Given the description of an element on the screen output the (x, y) to click on. 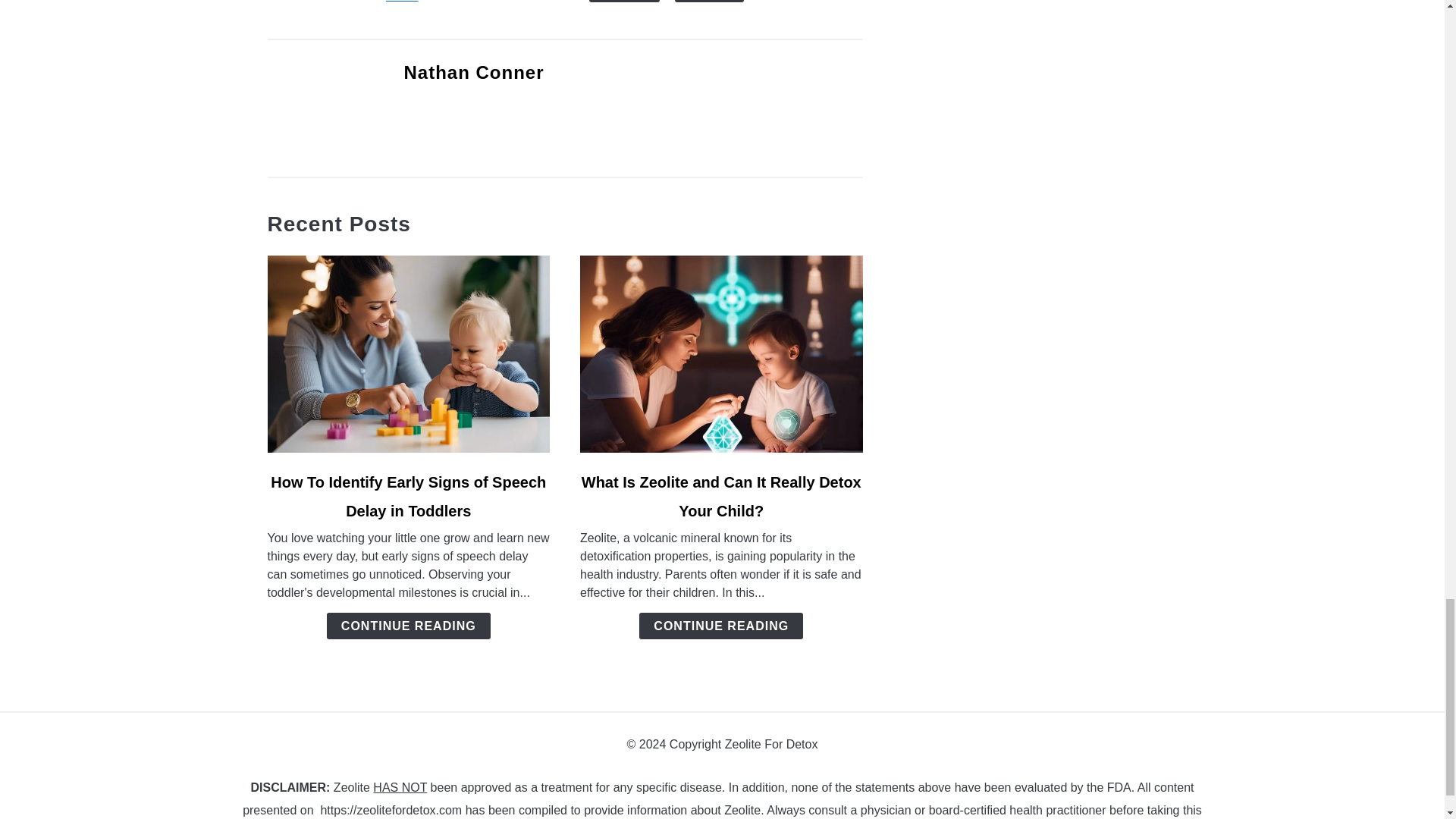
Tweet (402, 1)
EMAIL (624, 1)
Nathan Conner (473, 72)
CONTINUE READING (408, 625)
What Is Zeolite and Can It Really Detox Your Child? (720, 496)
CONTINUE READING (721, 625)
How To Identify Early Signs of Speech Delay in Toddlers (408, 496)
link to What Is Zeolite and Can It Really Detox Your Child? (721, 353)
PRINT (709, 1)
